Given the description of an element on the screen output the (x, y) to click on. 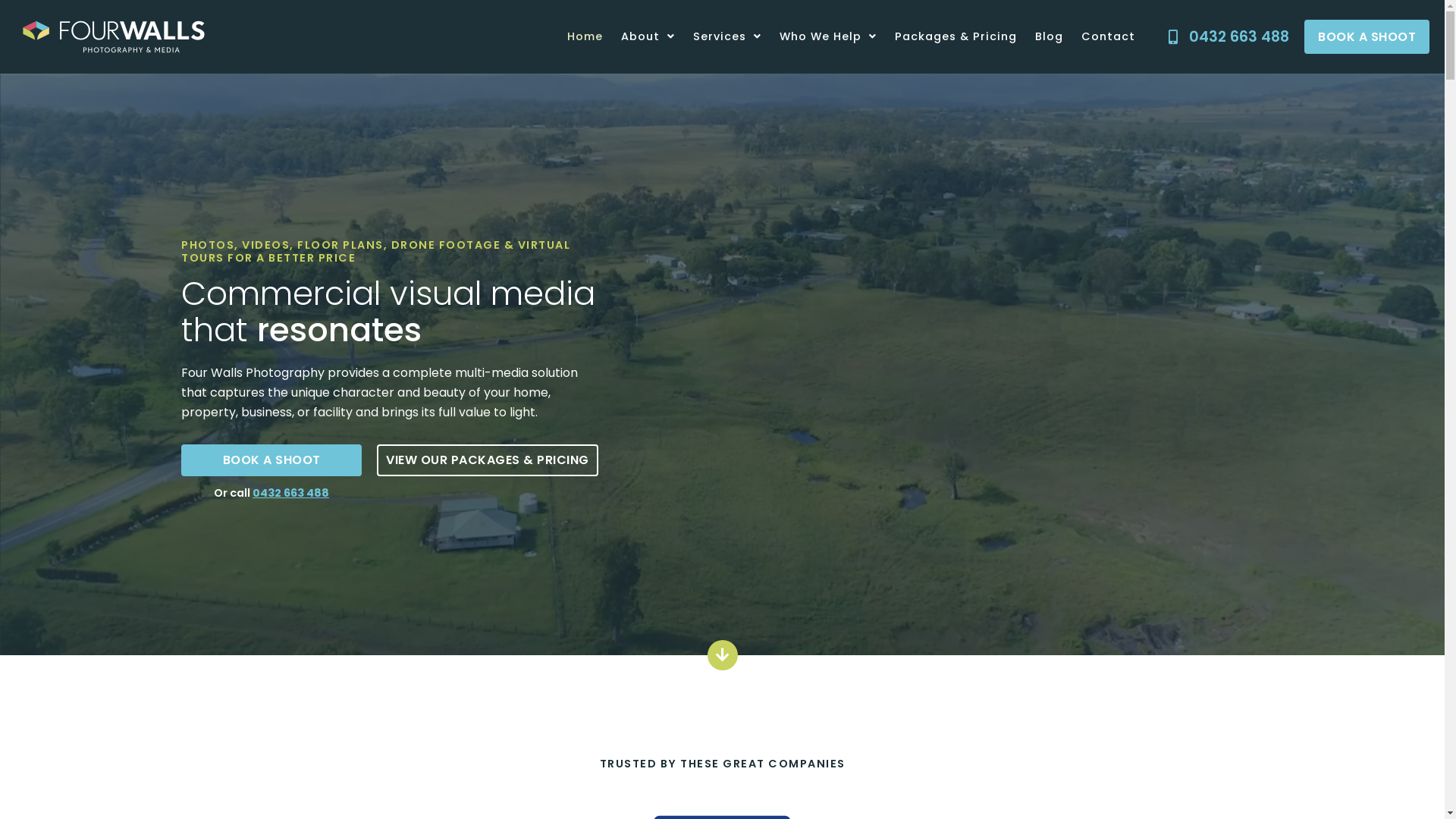
0432 663 488 Element type: text (1224, 37)
Blog Element type: text (1049, 36)
Home Element type: text (584, 36)
Services Element type: text (727, 36)
BOOK A SHOOT Element type: text (271, 460)
Who We Help Element type: text (827, 36)
BOOK A SHOOT Element type: text (1366, 36)
About Element type: text (647, 36)
VIEW OUR PACKAGES & PRICING Element type: text (487, 460)
0432 663 488 Element type: text (290, 492)
Packages & Pricing Element type: text (955, 36)
Contact Element type: text (1108, 36)
